Given the description of an element on the screen output the (x, y) to click on. 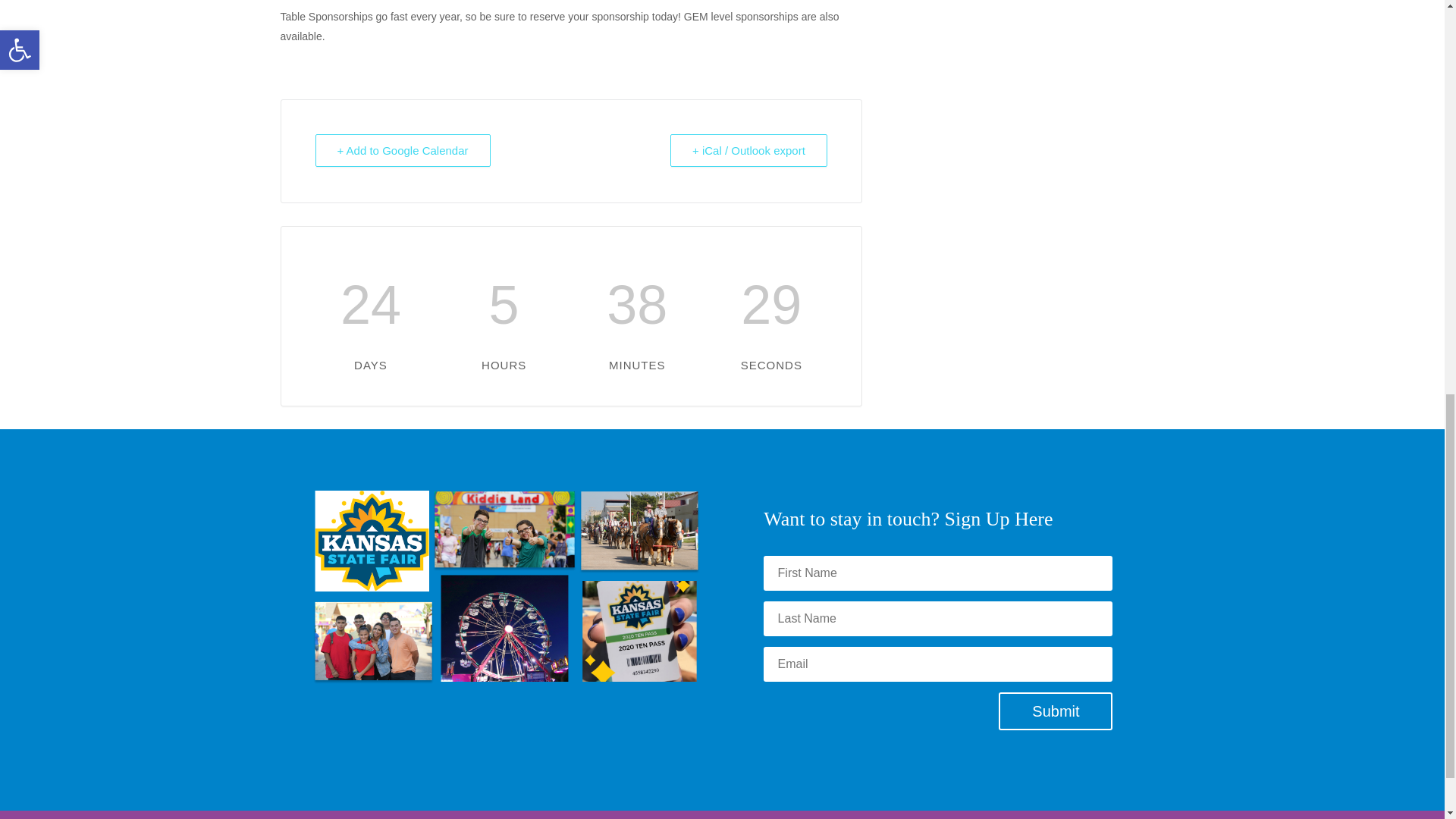
group-images (505, 586)
